Given the description of an element on the screen output the (x, y) to click on. 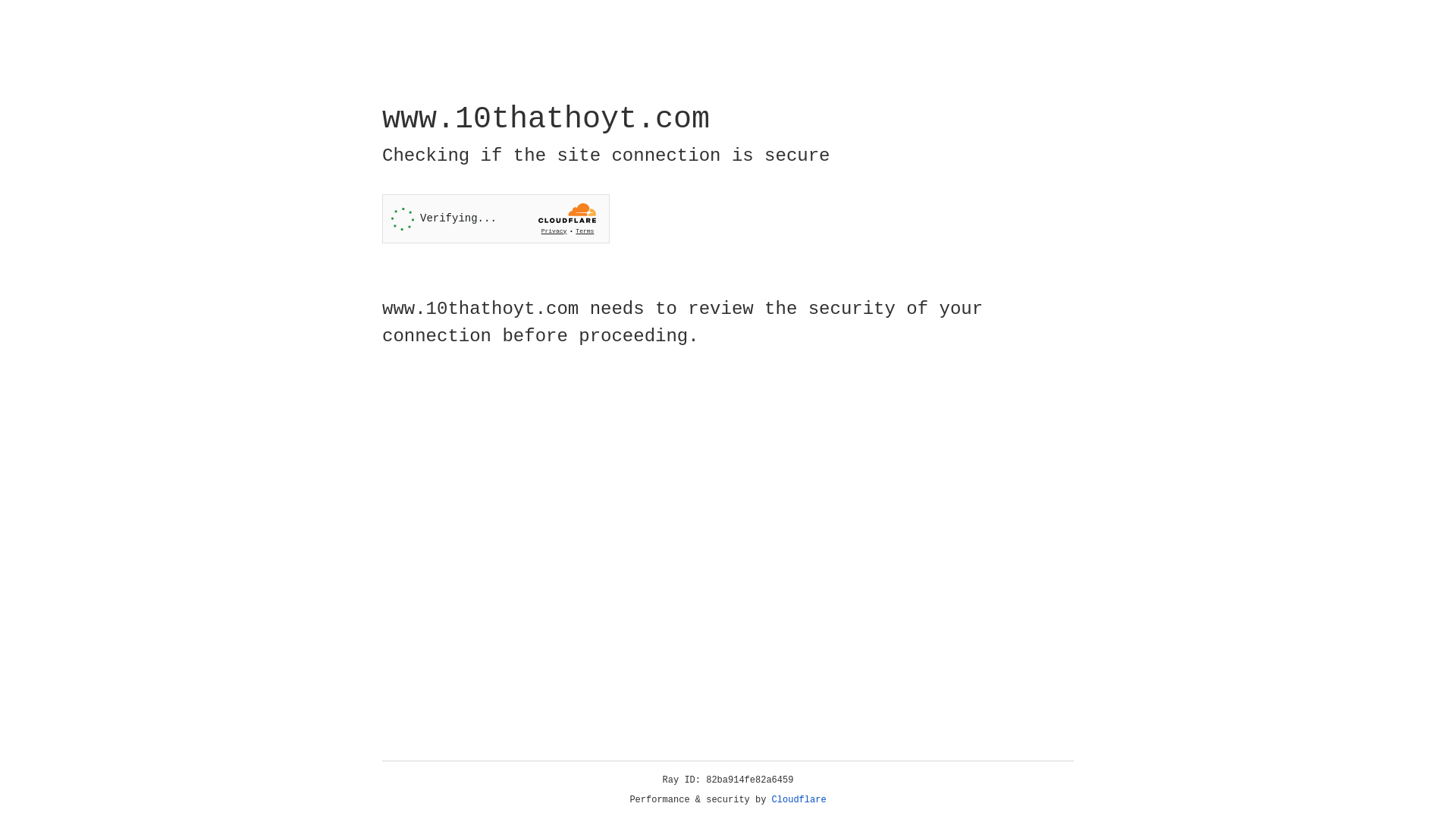
Cloudflare Element type: text (798, 799)
Widget containing a Cloudflare security challenge Element type: hover (495, 218)
